Given the description of an element on the screen output the (x, y) to click on. 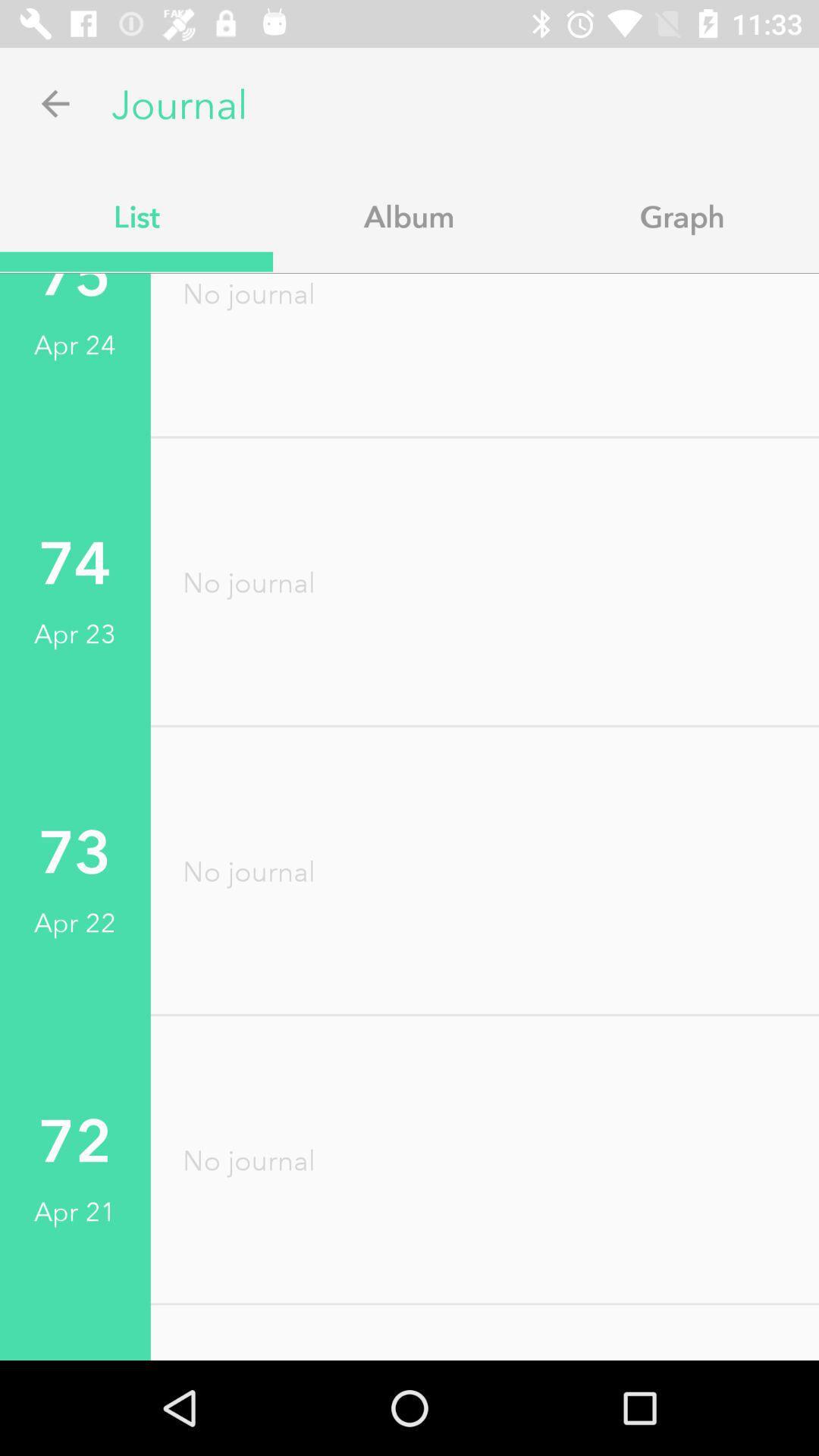
select on the text right to list (409, 215)
